Given the description of an element on the screen output the (x, y) to click on. 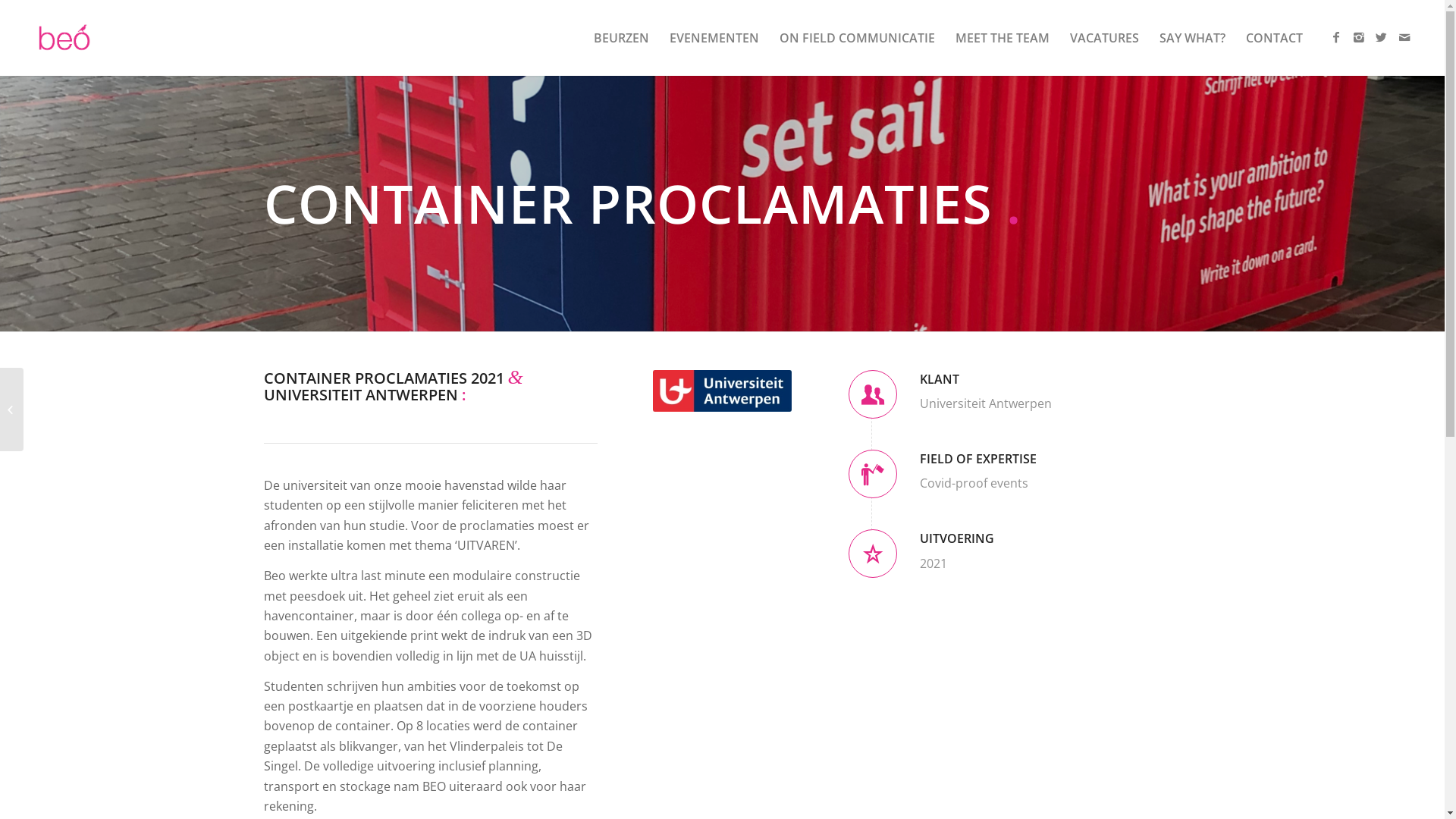
UA-sponsor-rgb Element type: hover (722, 390)
SAY WHAT? Element type: text (1191, 37)
VACATURES Element type: text (1103, 37)
ON FIELD COMMUNICATIE Element type: text (856, 37)
Mail Element type: hover (1404, 36)
Twitter Element type: hover (1381, 36)
BEURZEN Element type: text (620, 37)
CONTACT Element type: text (1273, 37)
Instagram Element type: hover (1358, 36)
Facebook Element type: hover (1335, 36)
MEET THE TEAM Element type: text (1001, 37)
EVENEMENTEN Element type: text (713, 37)
